Given the description of an element on the screen output the (x, y) to click on. 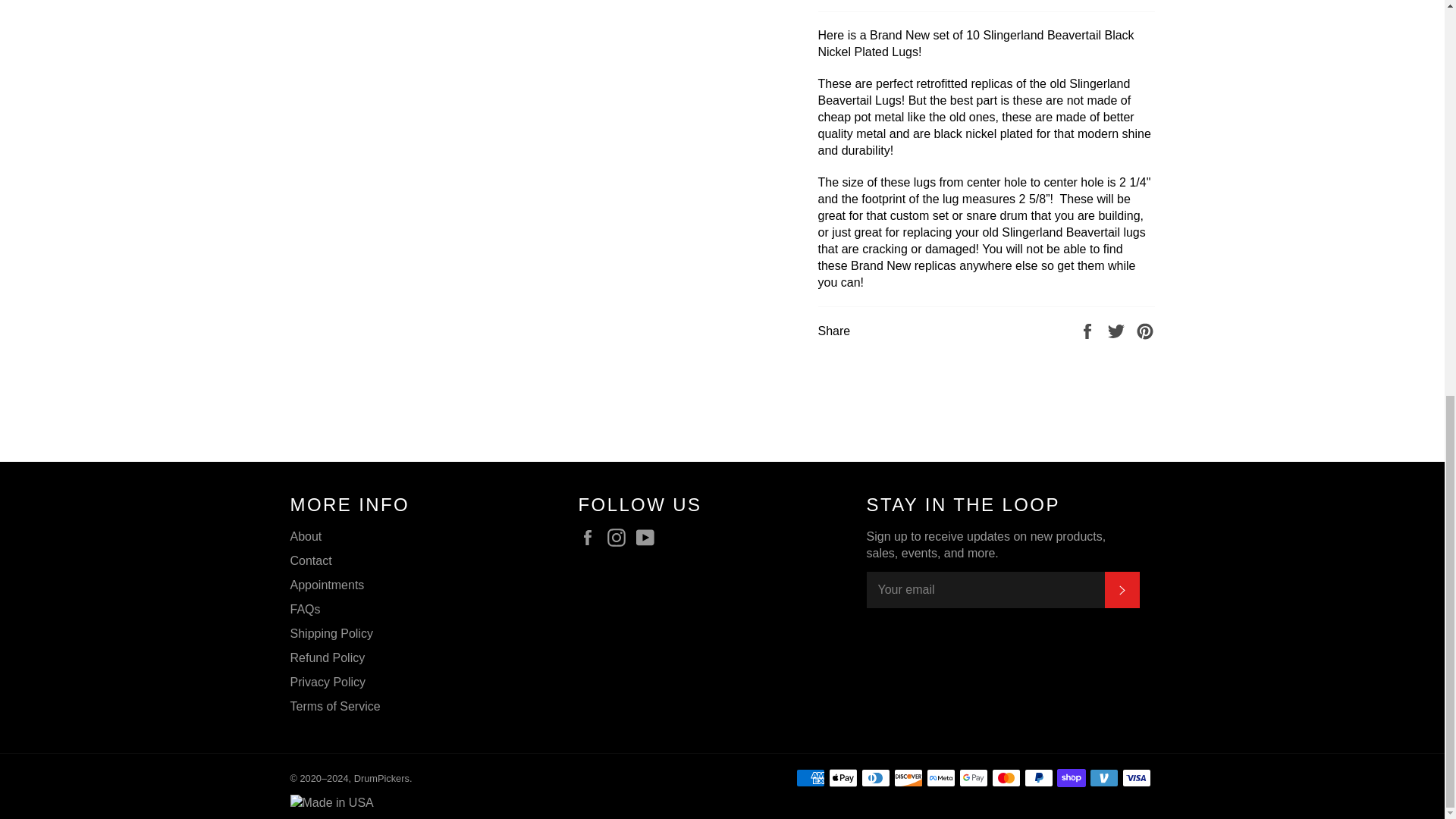
Share on Facebook (1088, 329)
DrumPickers on YouTube (649, 537)
Pin on Pinterest (1144, 329)
DrumPickers on Instagram (620, 537)
Tweet on Twitter (1117, 329)
DrumPickers on Facebook (591, 537)
